Given the description of an element on the screen output the (x, y) to click on. 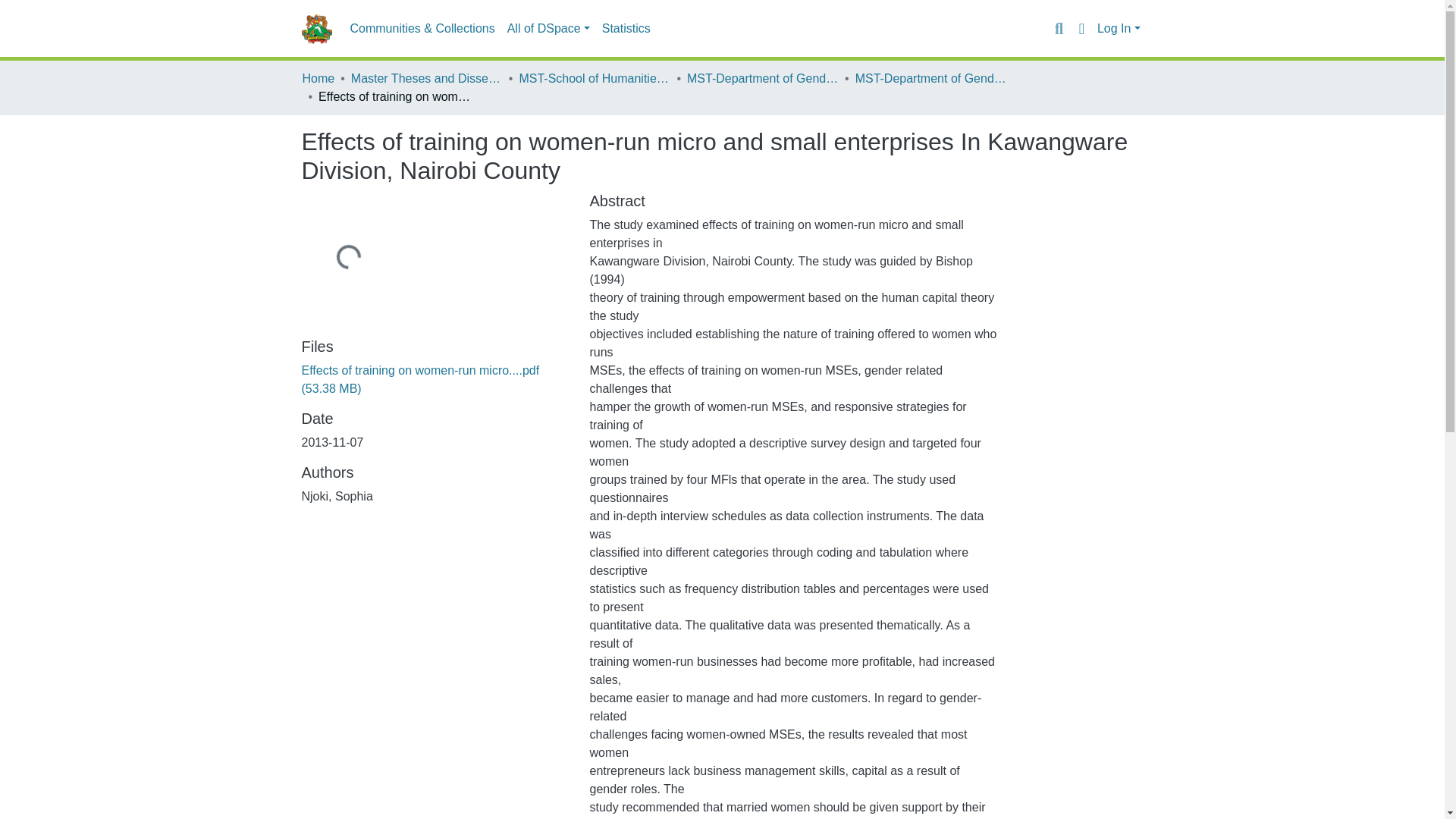
All of DSpace (547, 28)
Search (1058, 28)
MST-School of Humanities and Social Sciences (593, 78)
Log In (1118, 28)
Language switch (1081, 28)
Home (317, 78)
Statistics (625, 28)
MST-Department of Gender and Development Studies (762, 78)
MST-Department of Gender and Development Studies (931, 78)
Statistics (625, 28)
